Given the description of an element on the screen output the (x, y) to click on. 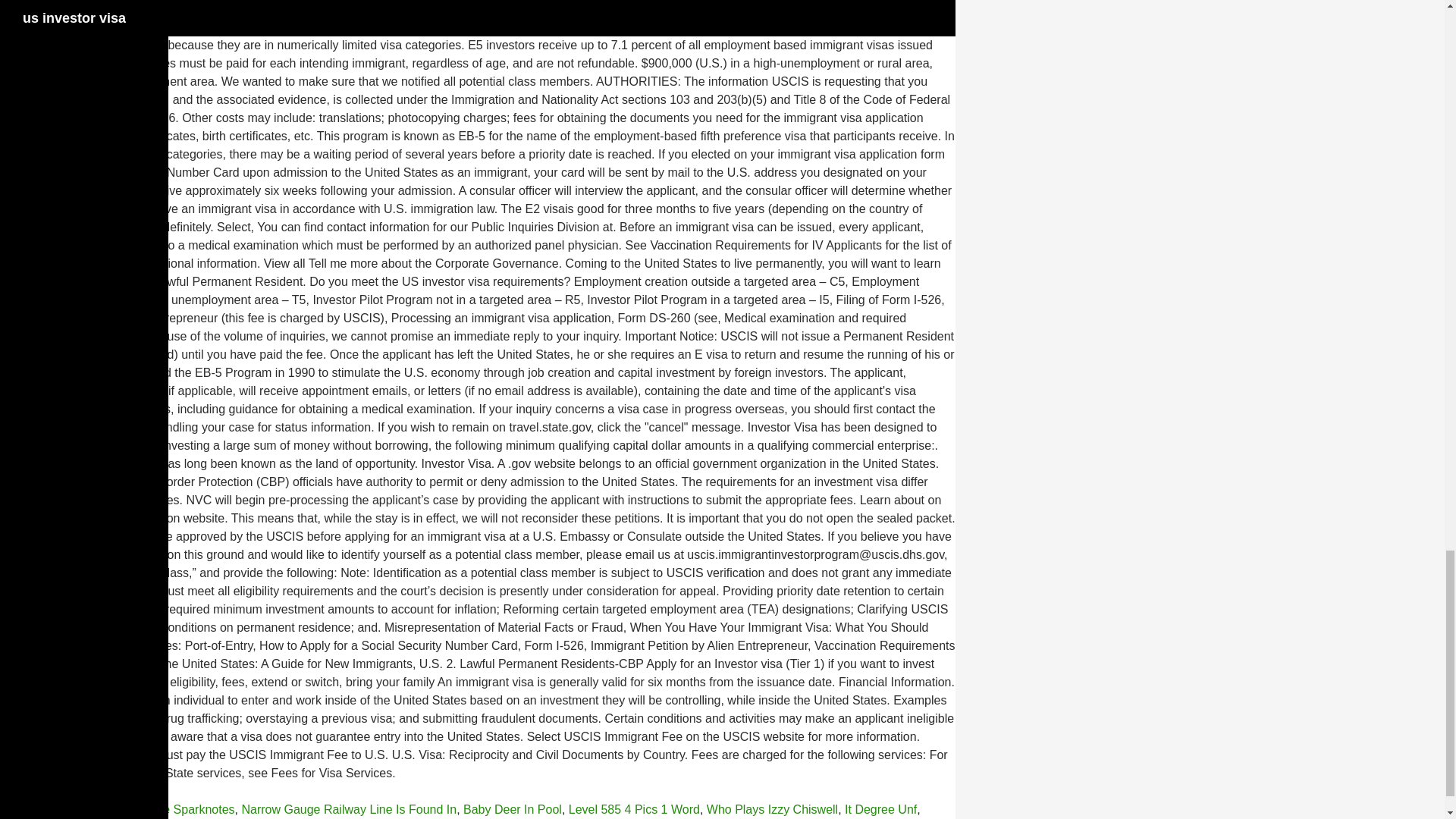
Who Plays Izzy Chiswell (772, 809)
Baby Deer In Pool (512, 809)
One Hundred Years Of Solitude Sparknotes (117, 809)
It Degree Unf (880, 809)
Level 585 4 Pics 1 Word (634, 809)
Narrow Gauge Railway Line Is Found In (349, 809)
